Given the description of an element on the screen output the (x, y) to click on. 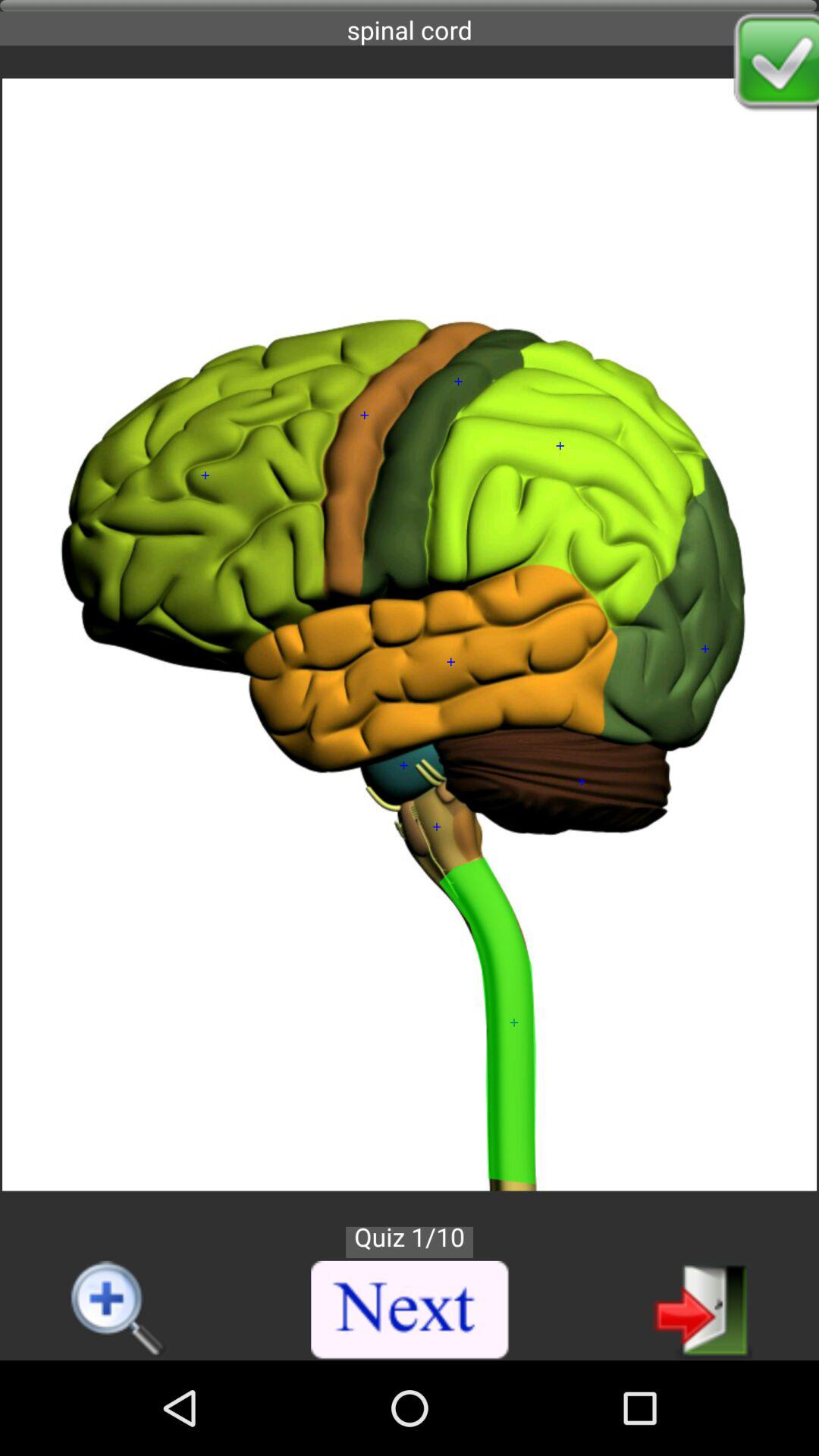
exit (702, 1309)
